Given the description of an element on the screen output the (x, y) to click on. 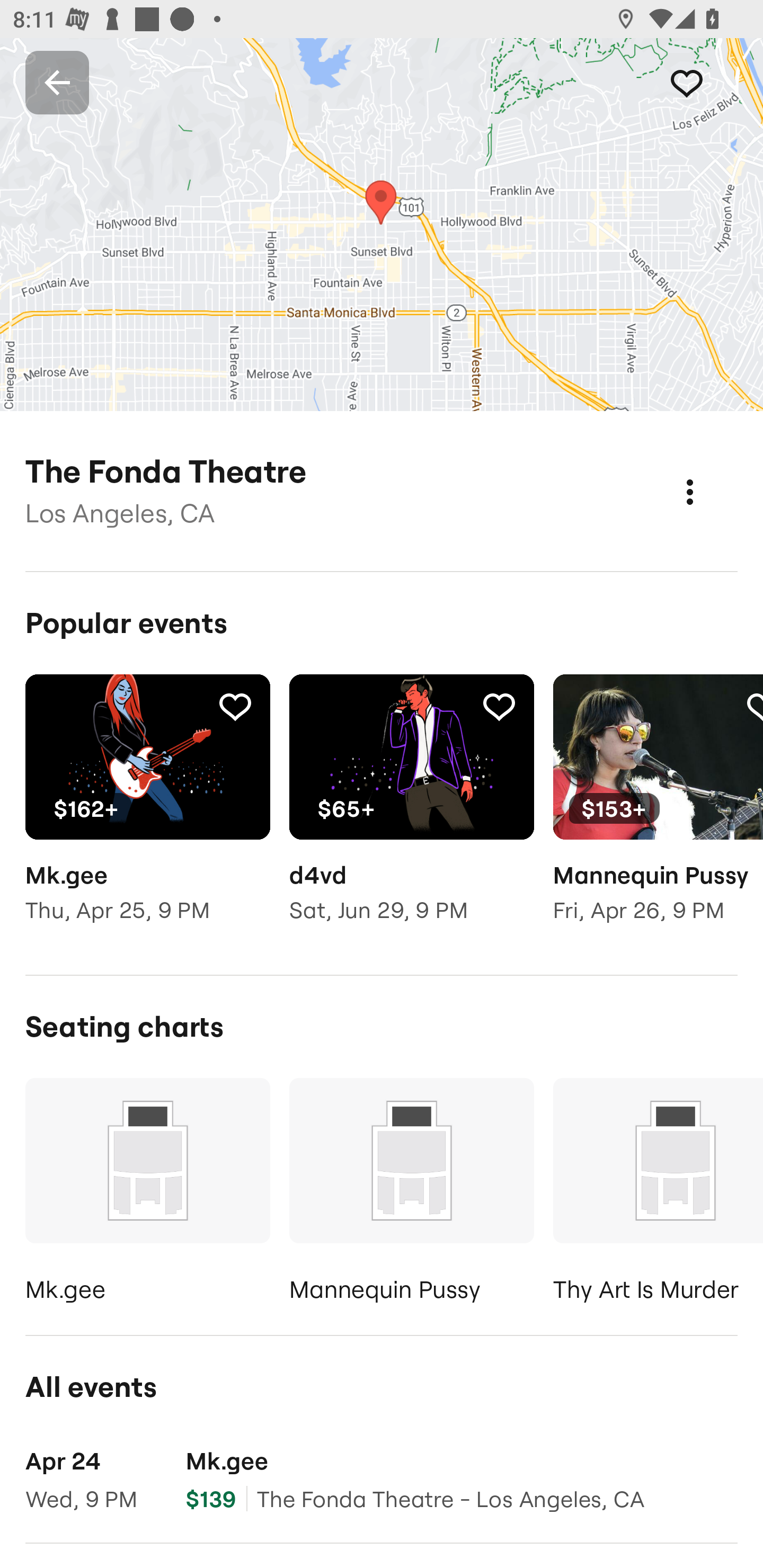
Back (57, 81)
Tracking (705, 81)
See more options (708, 472)
Tracking $162+ Mk.gee Thu, Apr 25, 9 PM (147, 811)
Tracking $65+ d4vd Sat, Jun 29, 9 PM (411, 811)
Tracking $153+ Mannequin Pussy Fri, Apr 26, 9 PM (658, 811)
Tracking (234, 705)
Tracking (498, 705)
Mk.gee (147, 1193)
Mannequin Pussy (411, 1193)
Thy Art Is Murder (658, 1193)
